Given the description of an element on the screen output the (x, y) to click on. 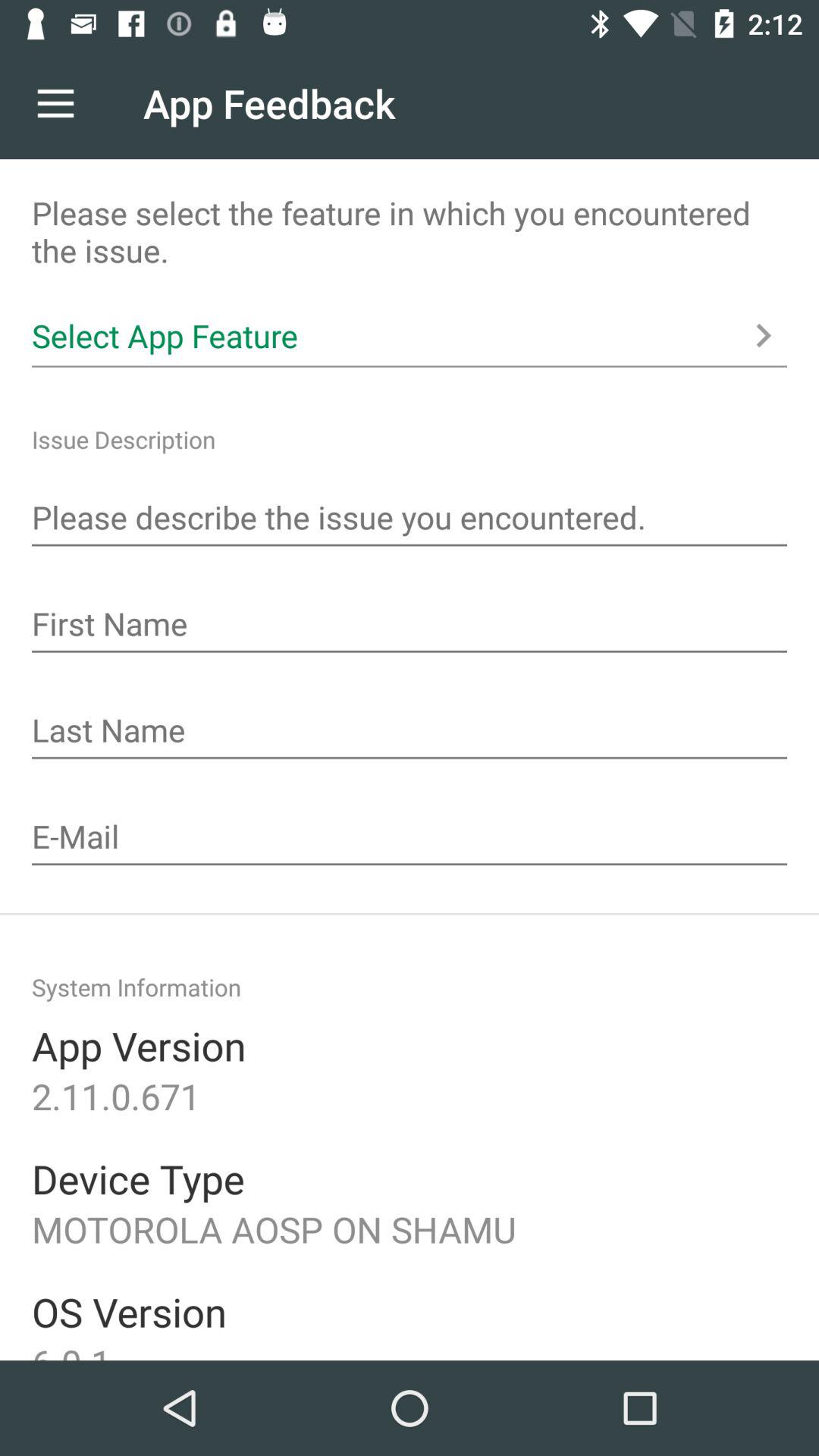
enter your last name (409, 731)
